Given the description of an element on the screen output the (x, y) to click on. 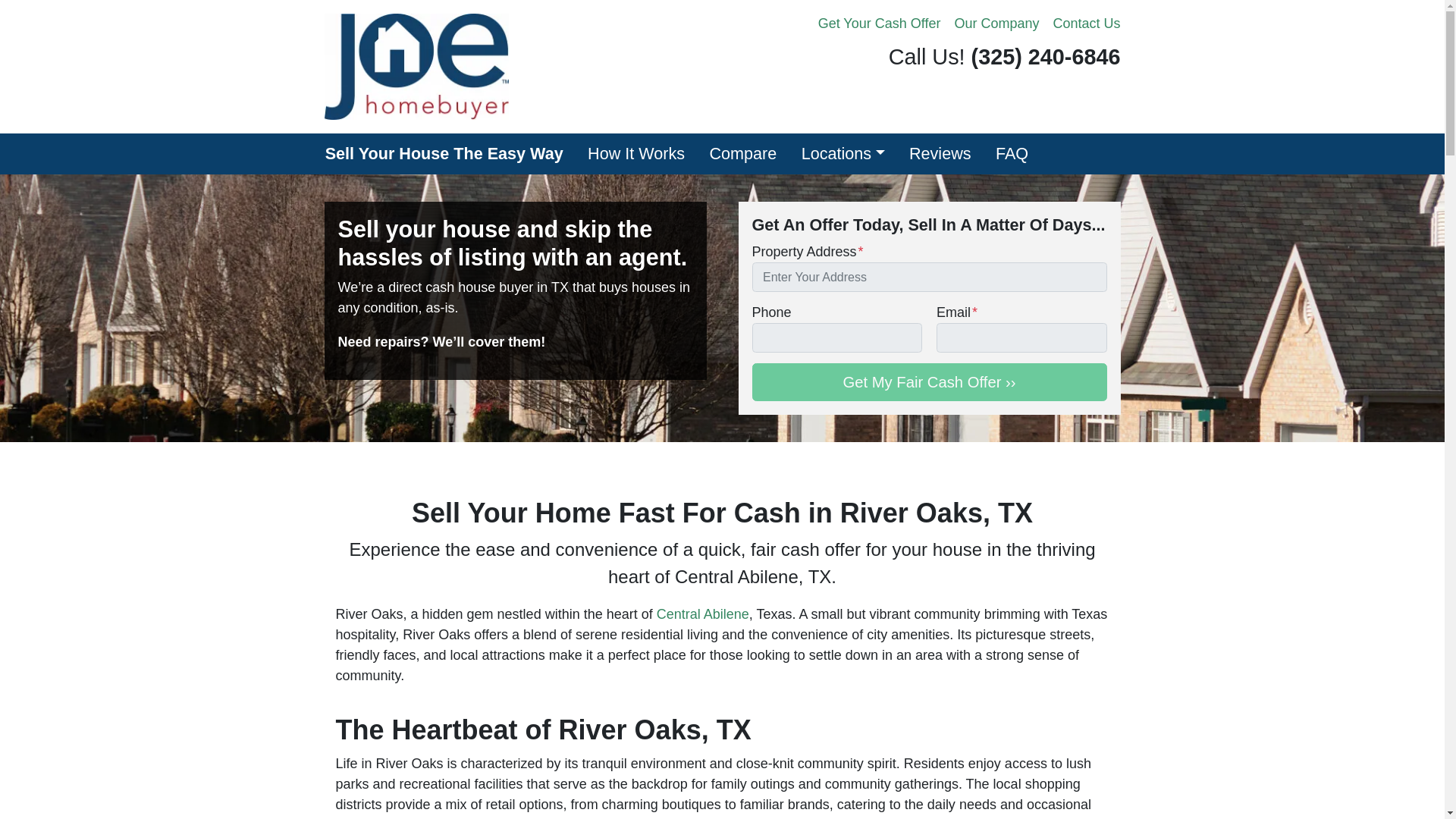
Our Company (996, 23)
Sell Your House The Easy Way (444, 153)
Sell Your House The Easy Way (444, 153)
Locations (842, 153)
Get Your Cash Offer (878, 23)
Central Abilene (702, 613)
How It Works (636, 153)
Compare (743, 153)
Contact Us (1085, 23)
FAQ (1012, 153)
